Given the description of an element on the screen output the (x, y) to click on. 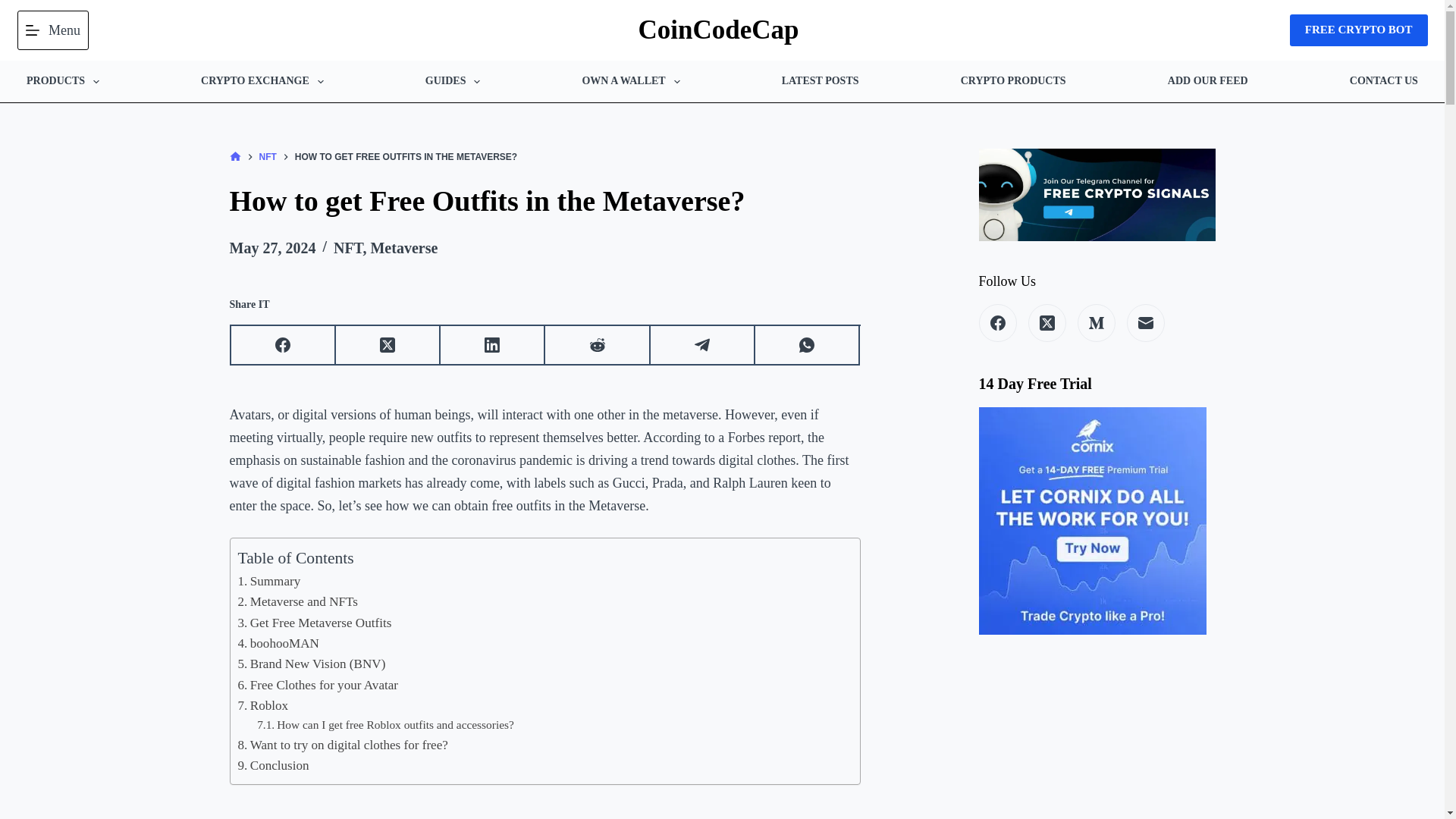
How to get Free Outfits in the Metaverse? (544, 200)
Skip to content (15, 7)
bingx (1359, 29)
